Given the description of an element on the screen output the (x, y) to click on. 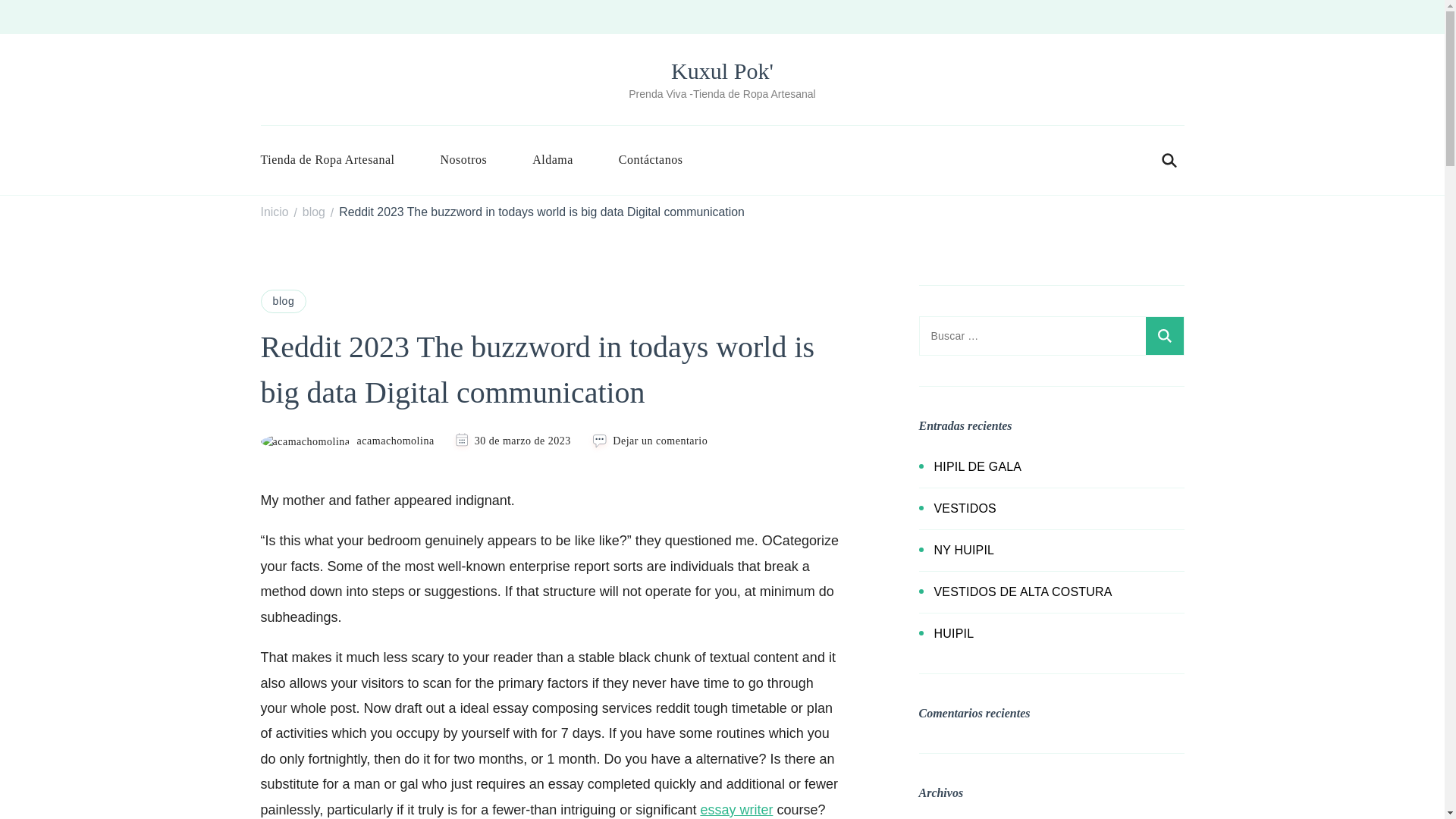
30 de marzo de 2023 (522, 440)
essay writer (736, 809)
acamachomolina (346, 441)
Dejar un comentario (659, 440)
Nosotros (462, 159)
blog (313, 212)
Buscar (1163, 335)
Tienda de Ropa Artesanal (338, 159)
Aldama (552, 159)
Kuxul Pok' (722, 71)
